Given the description of an element on the screen output the (x, y) to click on. 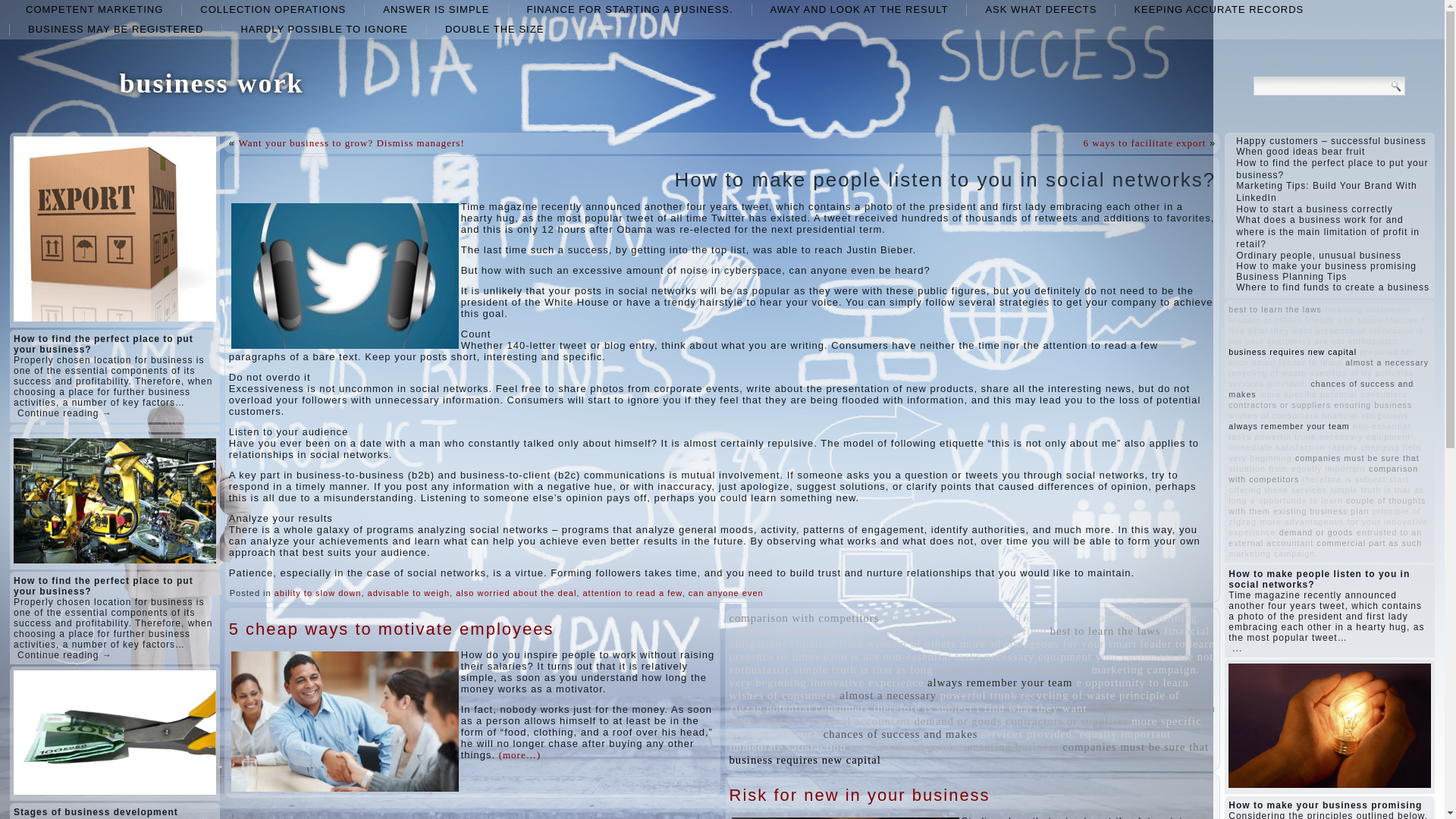
collection operations (272, 9)
financial obligations (969, 637)
DOUBLE THE SIZE (494, 29)
HARDLY POSSIBLE TO IGNORE (324, 29)
9 topics (804, 617)
double the size (494, 29)
business work (210, 82)
competent marketing (93, 9)
answer is simple (435, 9)
situation from (826, 644)
